Given the description of an element on the screen output the (x, y) to click on. 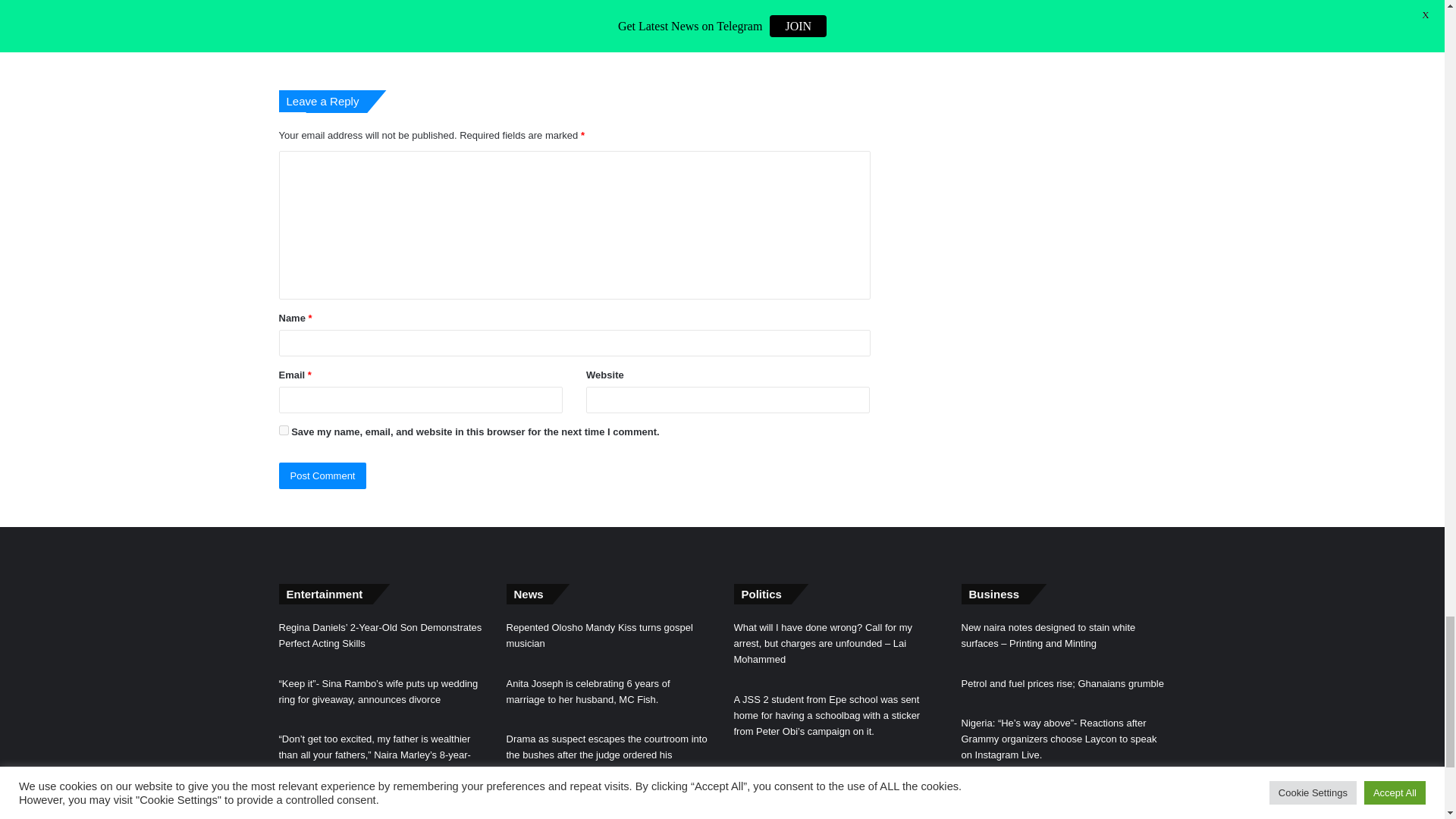
yes (283, 429)
Post Comment (322, 475)
